Given the description of an element on the screen output the (x, y) to click on. 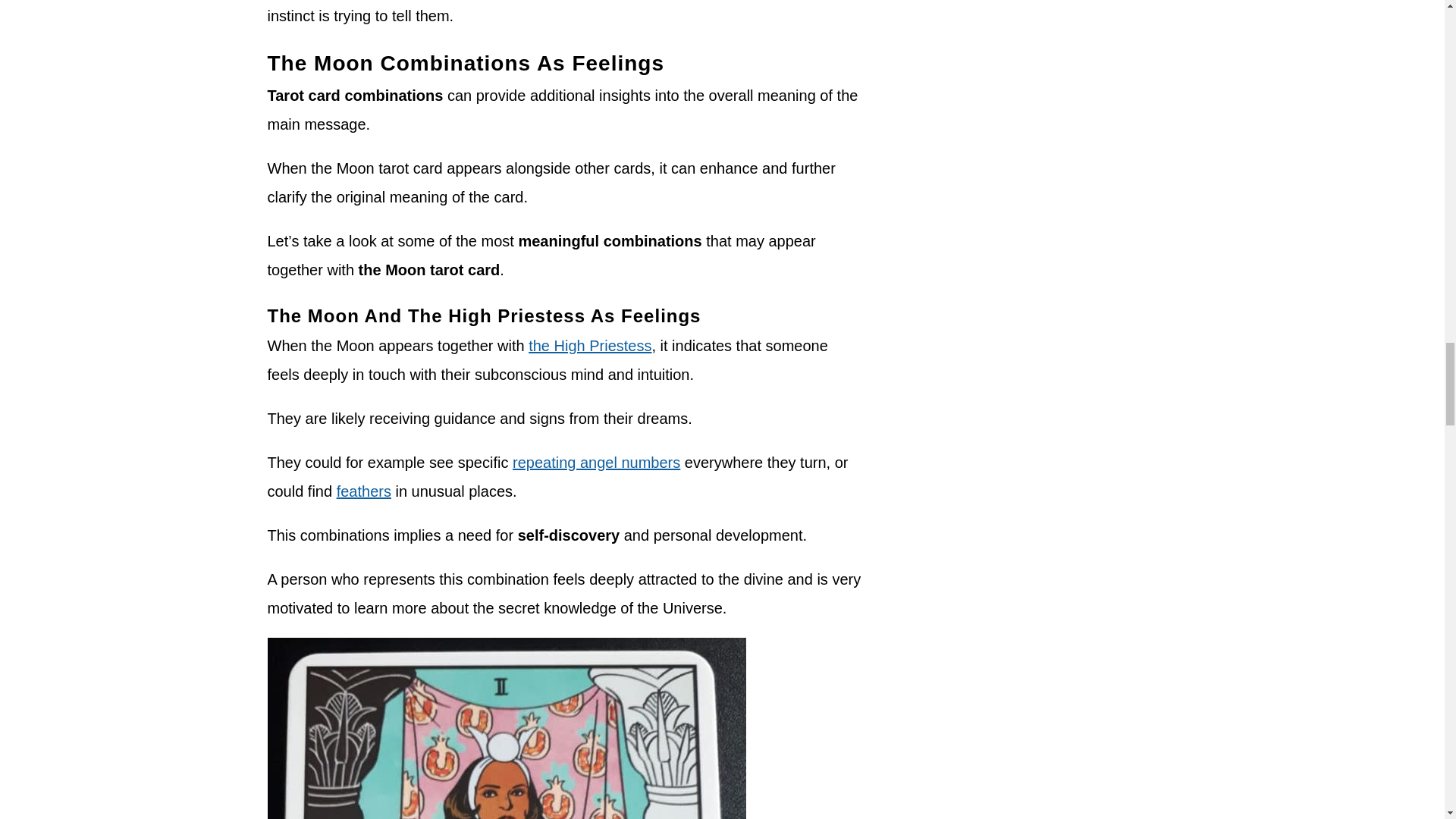
the High Priestess (589, 345)
repeating angel numbers (595, 462)
feathers (363, 491)
